Given the description of an element on the screen output the (x, y) to click on. 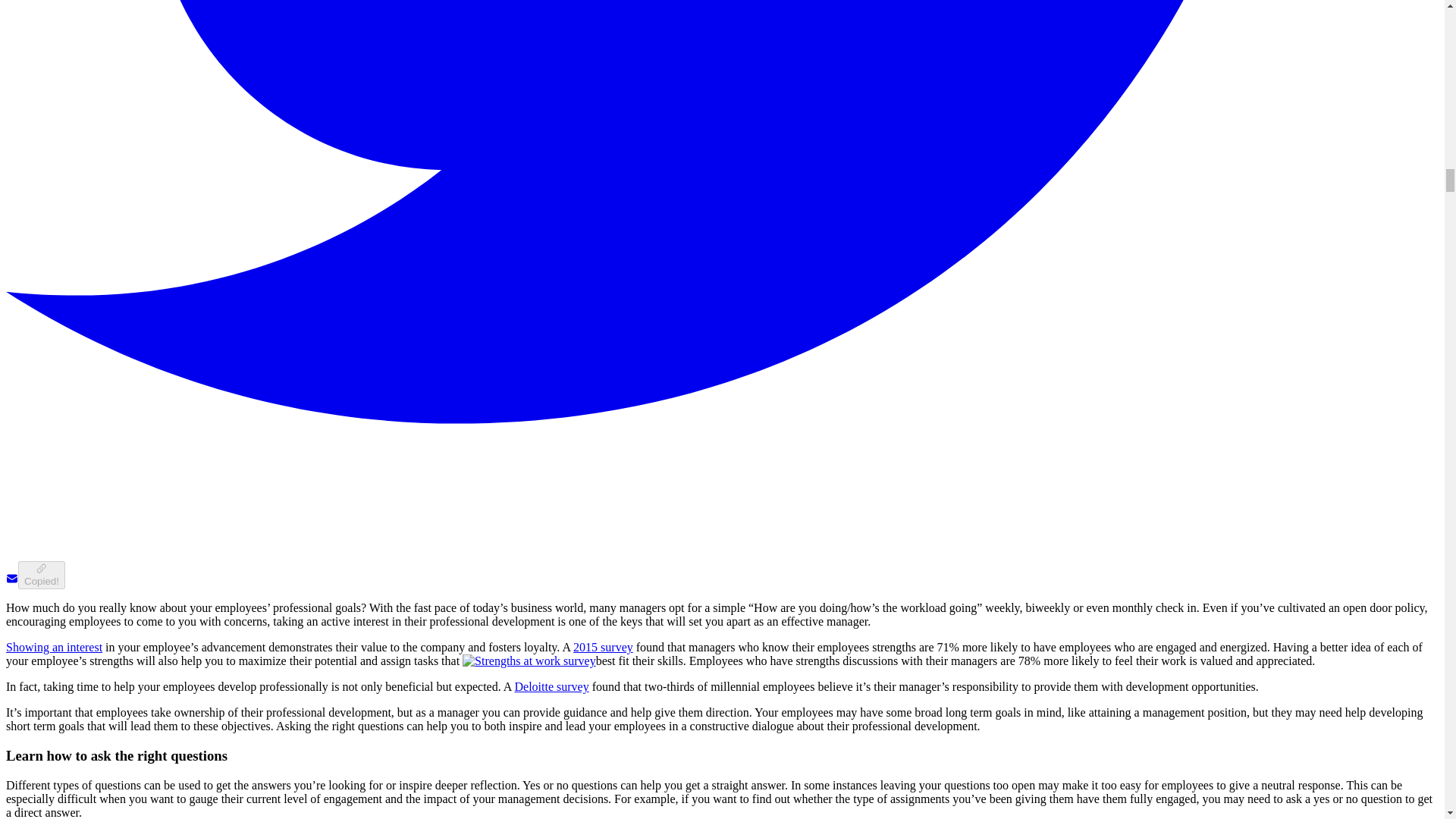
Deloitte survey (550, 686)
2015 survey (603, 646)
Showing an interest (53, 646)
Copied! (41, 574)
